Given the description of an element on the screen output the (x, y) to click on. 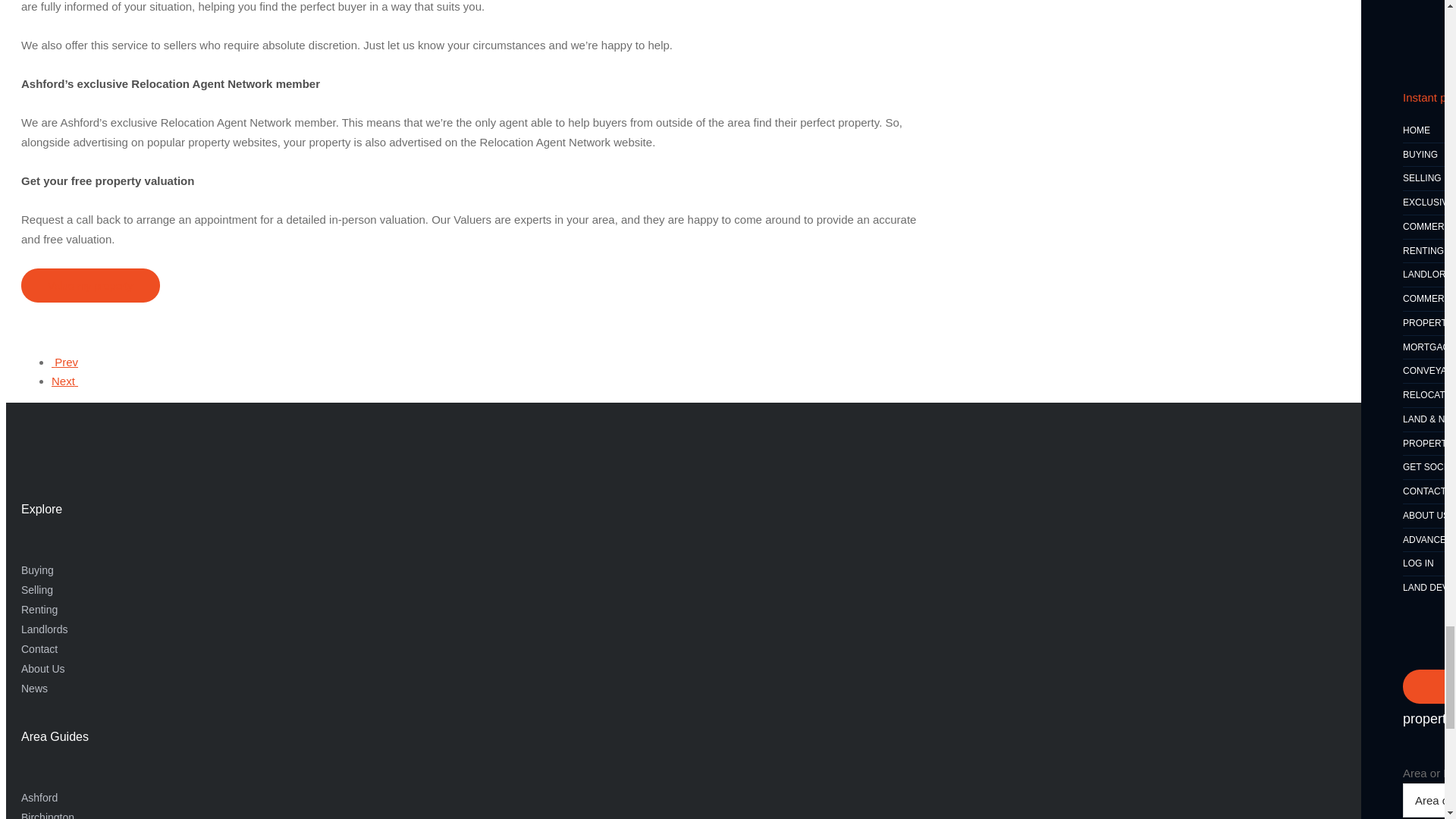
News (34, 688)
Prev (64, 361)
Birchington (64, 361)
Ashford (39, 797)
Value my property (90, 285)
Buying (37, 570)
Selling (36, 589)
Next (64, 380)
Birchington (47, 815)
Renting (39, 609)
